Given the description of an element on the screen output the (x, y) to click on. 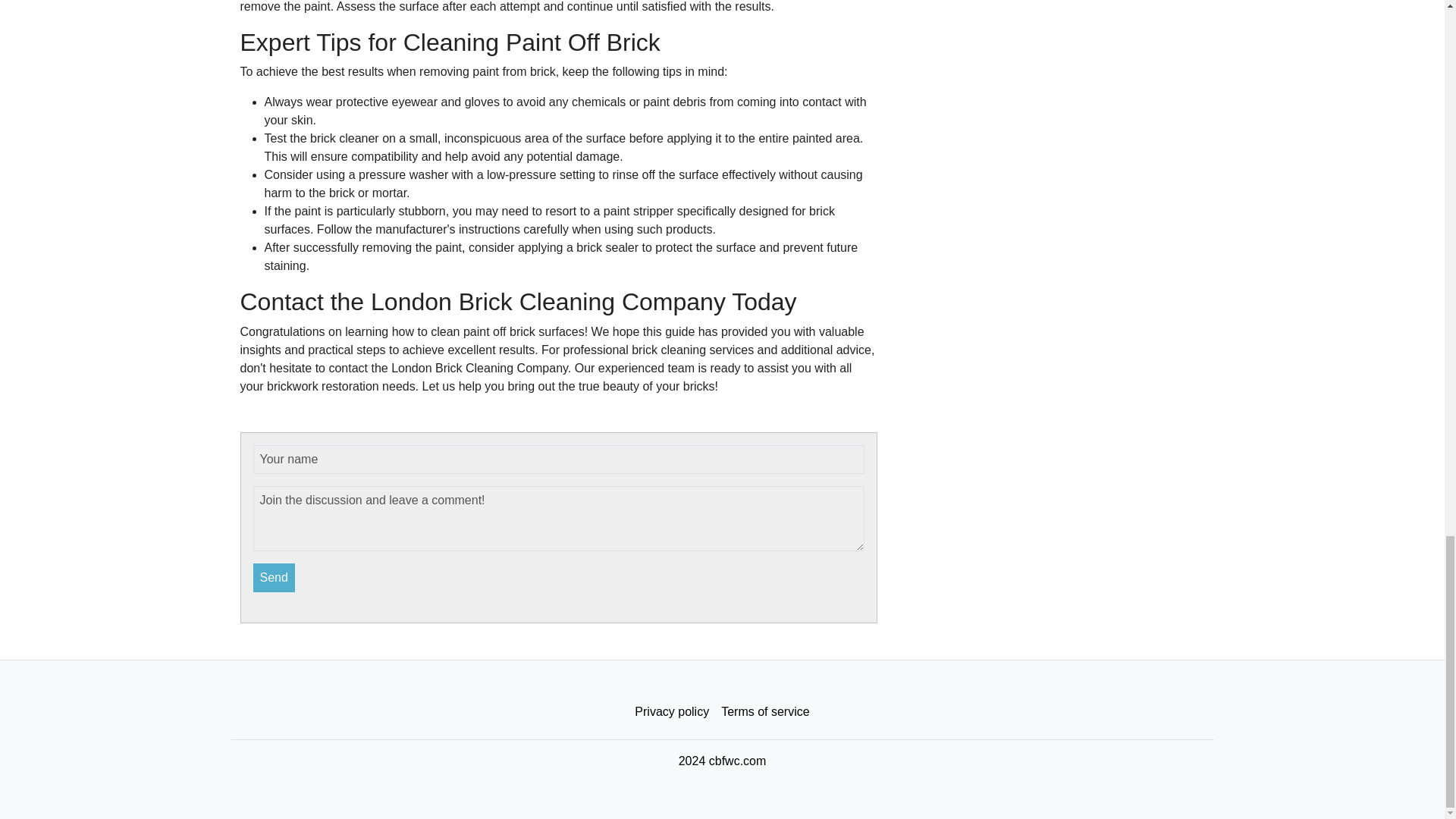
Privacy policy (671, 711)
Terms of service (764, 711)
Send (274, 576)
Send (274, 576)
